Given the description of an element on the screen output the (x, y) to click on. 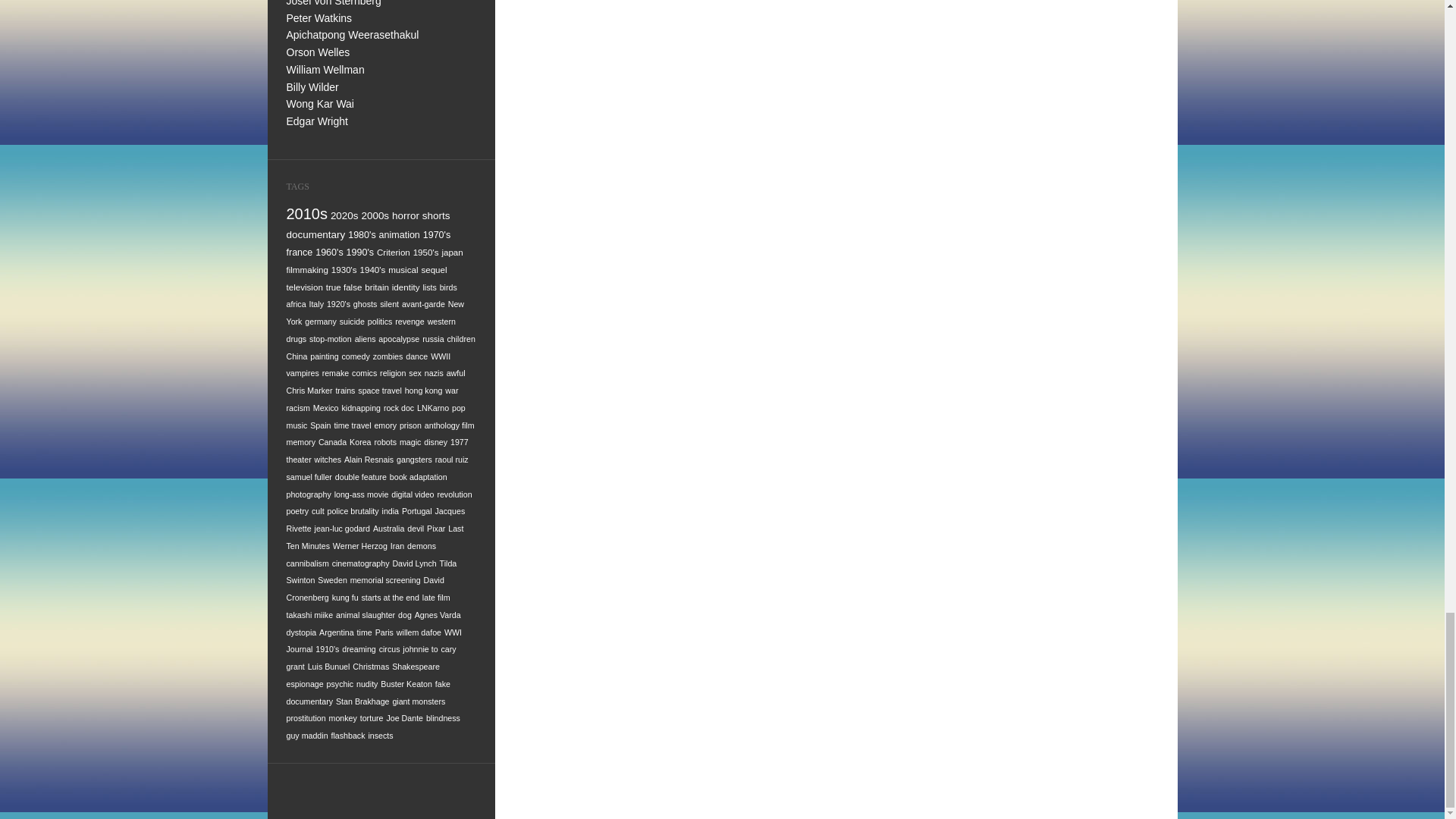
163 topics (307, 269)
210 topics (393, 252)
276 topics (437, 235)
326 topics (435, 215)
340 topics (405, 215)
974 topics (307, 213)
174 topics (452, 252)
250 topics (329, 252)
254 topics (299, 252)
197 topics (426, 252)
